Given the description of an element on the screen output the (x, y) to click on. 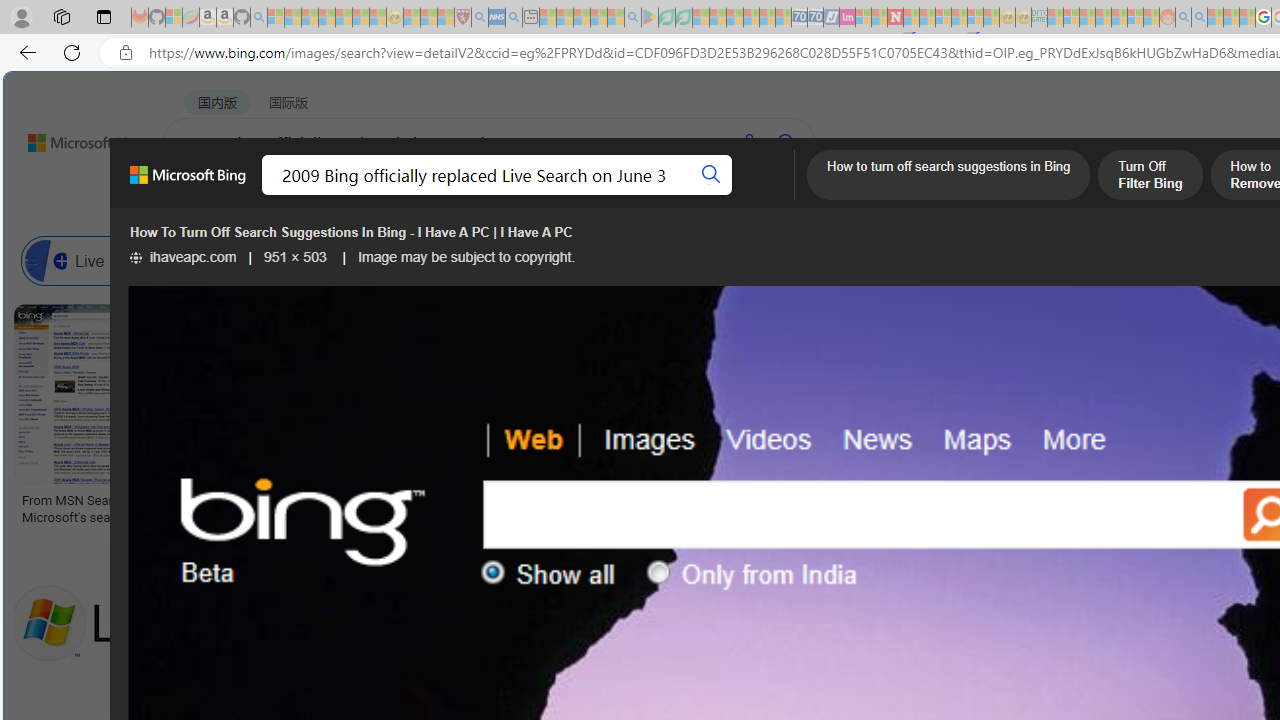
Bing Logo and symbol, meaning, history, PNG, brand (418, 508)
DICT (717, 195)
Bing Picture Search Engine (395, 260)
ACADEMIC (635, 195)
Microsoft Live Logo (737, 500)
MY BING (276, 195)
